Given the description of an element on the screen output the (x, y) to click on. 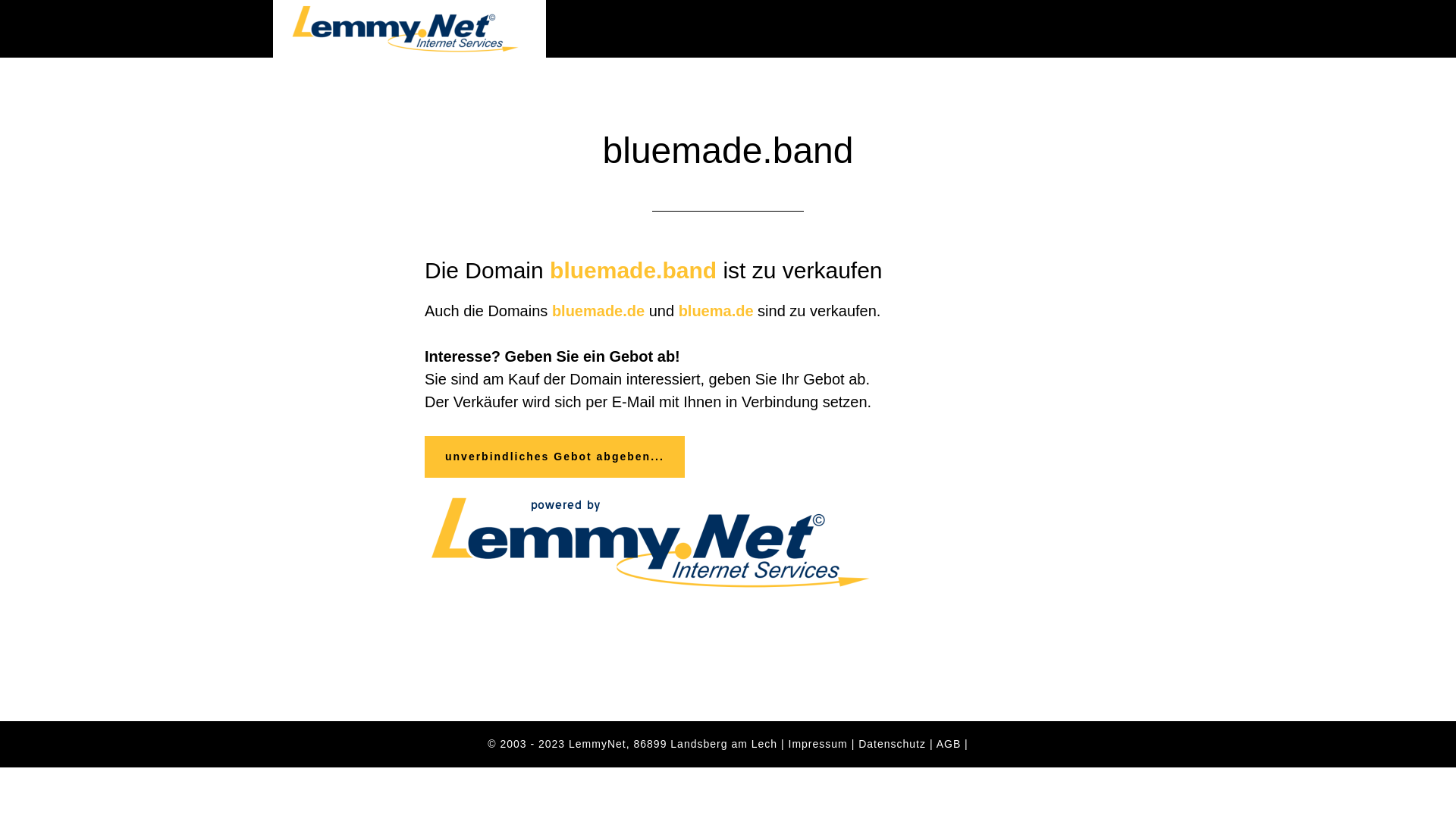
unverbindliches Gebot abgeben... Element type: text (554, 456)
Impressum Element type: text (817, 743)
bluemade.de Element type: text (598, 310)
bluema.de Element type: text (715, 310)
LEMMYNET INTERNET SERVICES Element type: text (409, 28)
Skip to main content Element type: text (0, 0)
LemmyNet Element type: text (597, 743)
Datenschutz Element type: text (891, 743)
bluemade.band Element type: text (632, 269)
AGB Element type: text (948, 743)
